Given the description of an element on the screen output the (x, y) to click on. 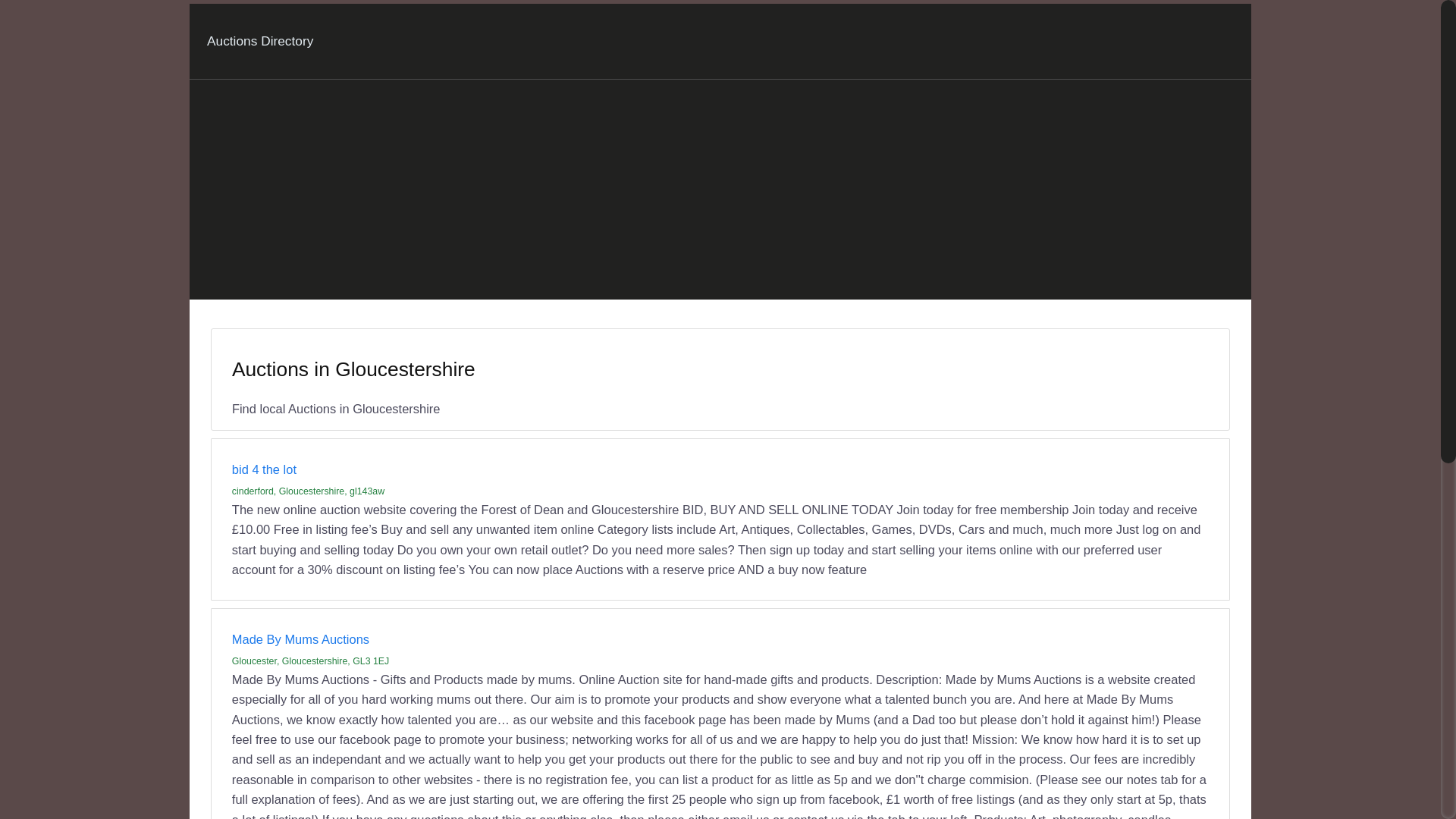
Made By Mums Auctions (300, 639)
Auctions Directory (259, 40)
bid 4 the lot (264, 468)
